Given the description of an element on the screen output the (x, y) to click on. 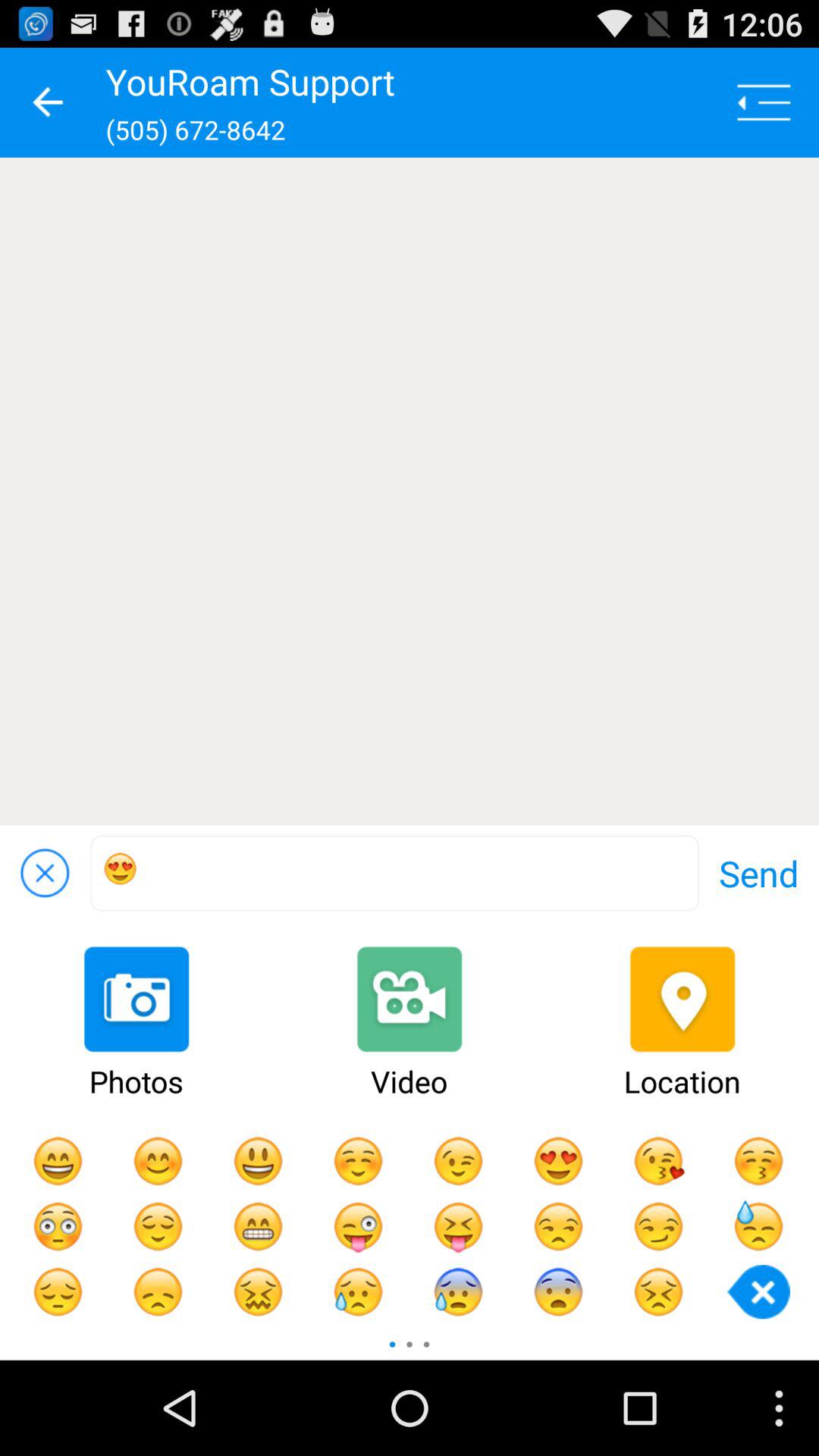
turn off icon to the left of the send item (394, 873)
